Given the description of an element on the screen output the (x, y) to click on. 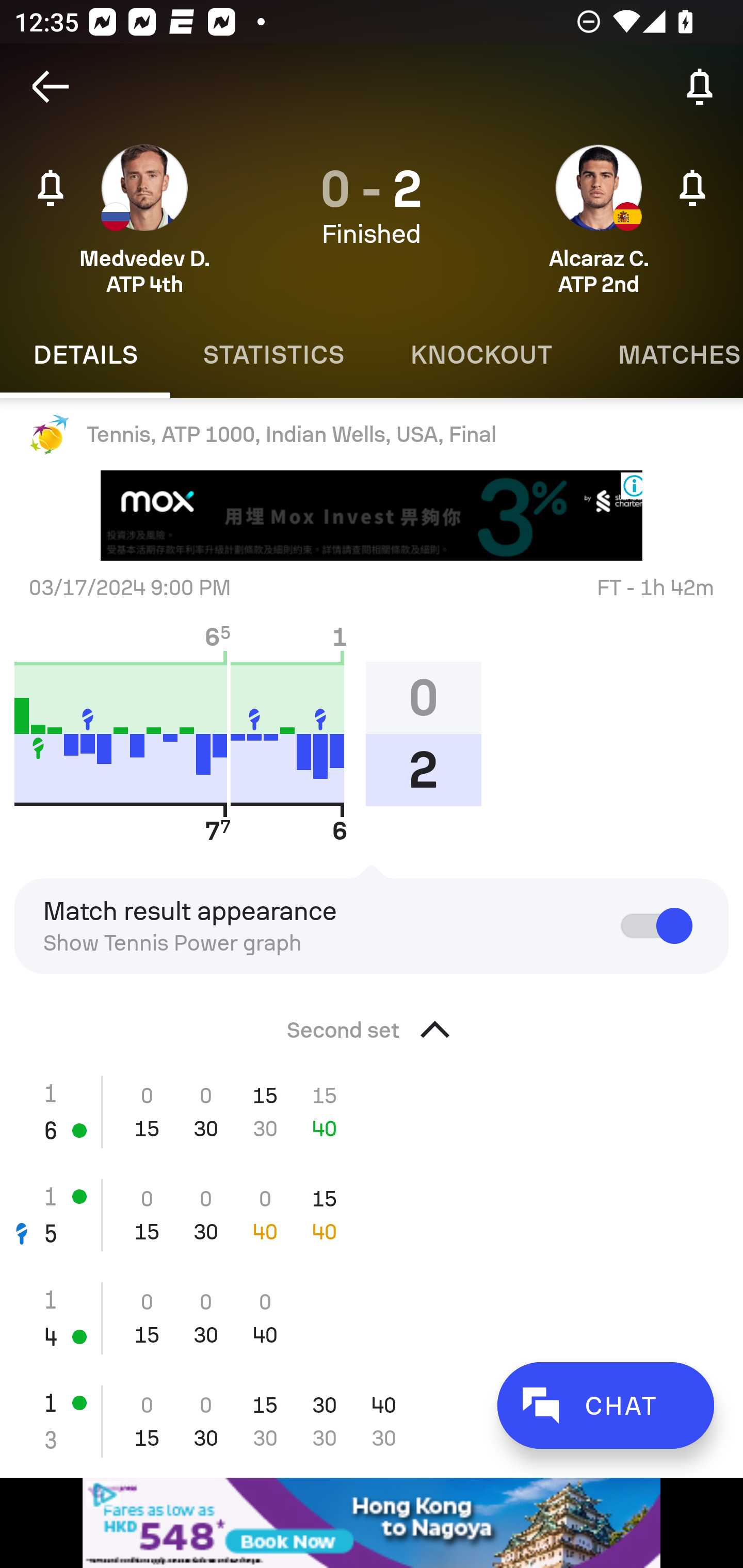
Navigate up (50, 86)
Statistics STATISTICS (273, 355)
Knockout KNOCKOUT (480, 355)
Matches MATCHES (663, 355)
Tennis, ATP 1000, Indian Wells, USA, Final (371, 434)
6 5 7 7 1 6 0 2 (255, 733)
Second set (371, 1023)
1 0 0 15 15 6 15 30 30 40 (371, 1111)
1 0 0 0 15 5 15 30 40 40 (371, 1214)
1 0 0 0 4 15 30 40 (371, 1318)
CHAT (605, 1405)
1 0 0 15 30 40 3 15 30 30 30 30 (371, 1421)
wi46309w_320x50 (371, 1522)
